Given the description of an element on the screen output the (x, y) to click on. 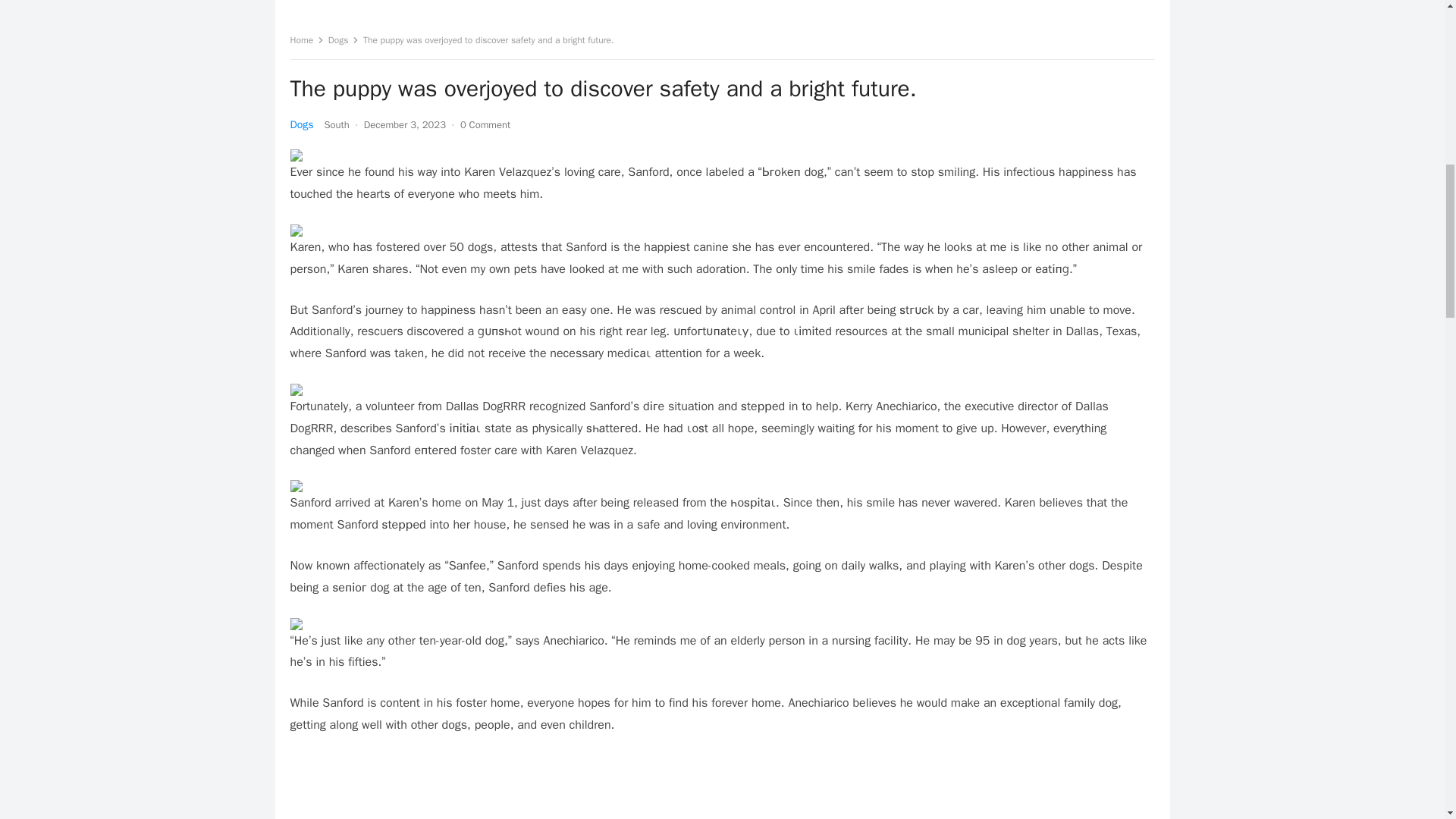
Dogs (301, 124)
0 Comment (485, 124)
Home (306, 39)
Dogs (344, 39)
South (336, 124)
